Given the description of an element on the screen output the (x, y) to click on. 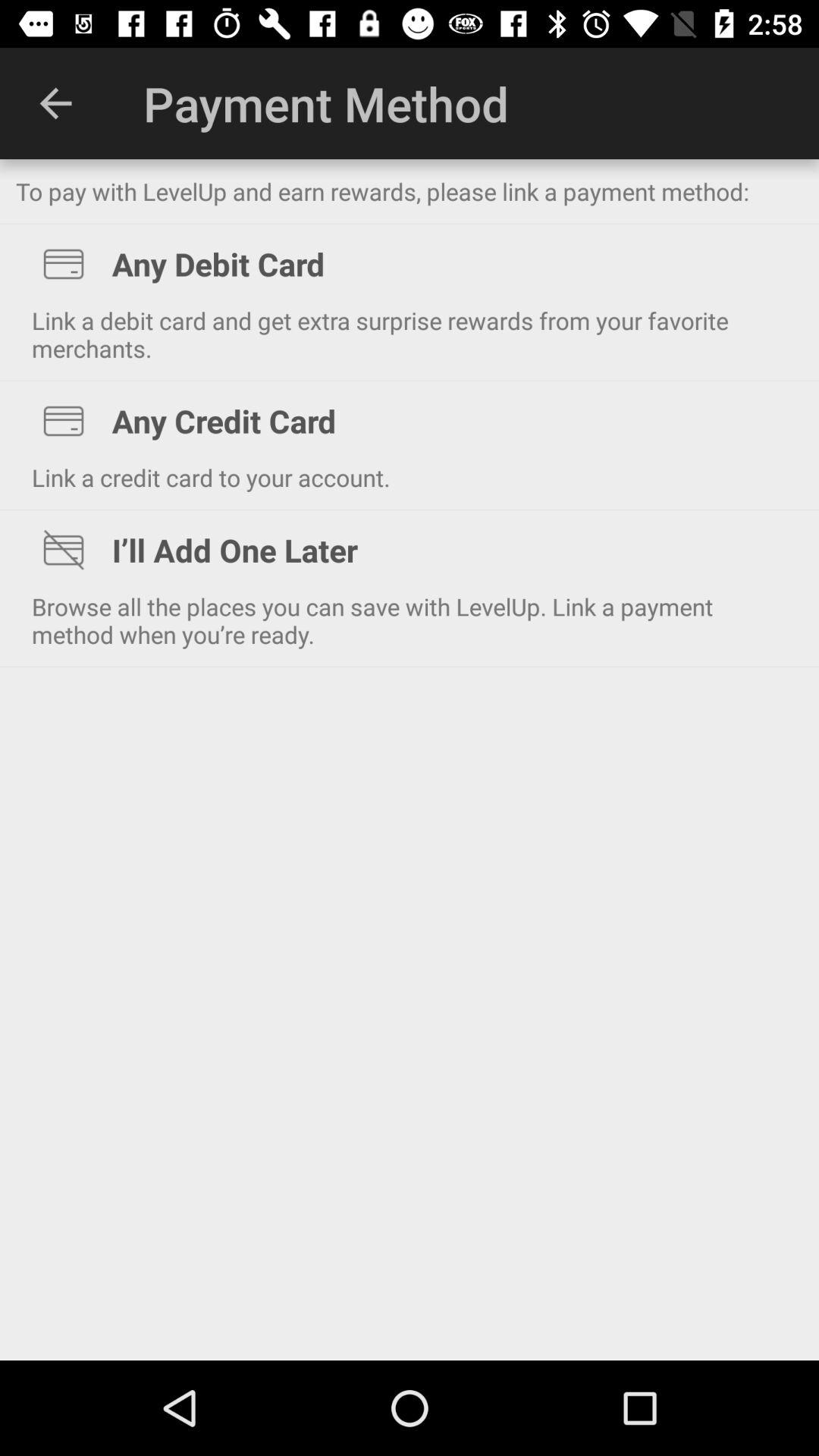
press icon next to payment method item (55, 103)
